Given the description of an element on the screen output the (x, y) to click on. 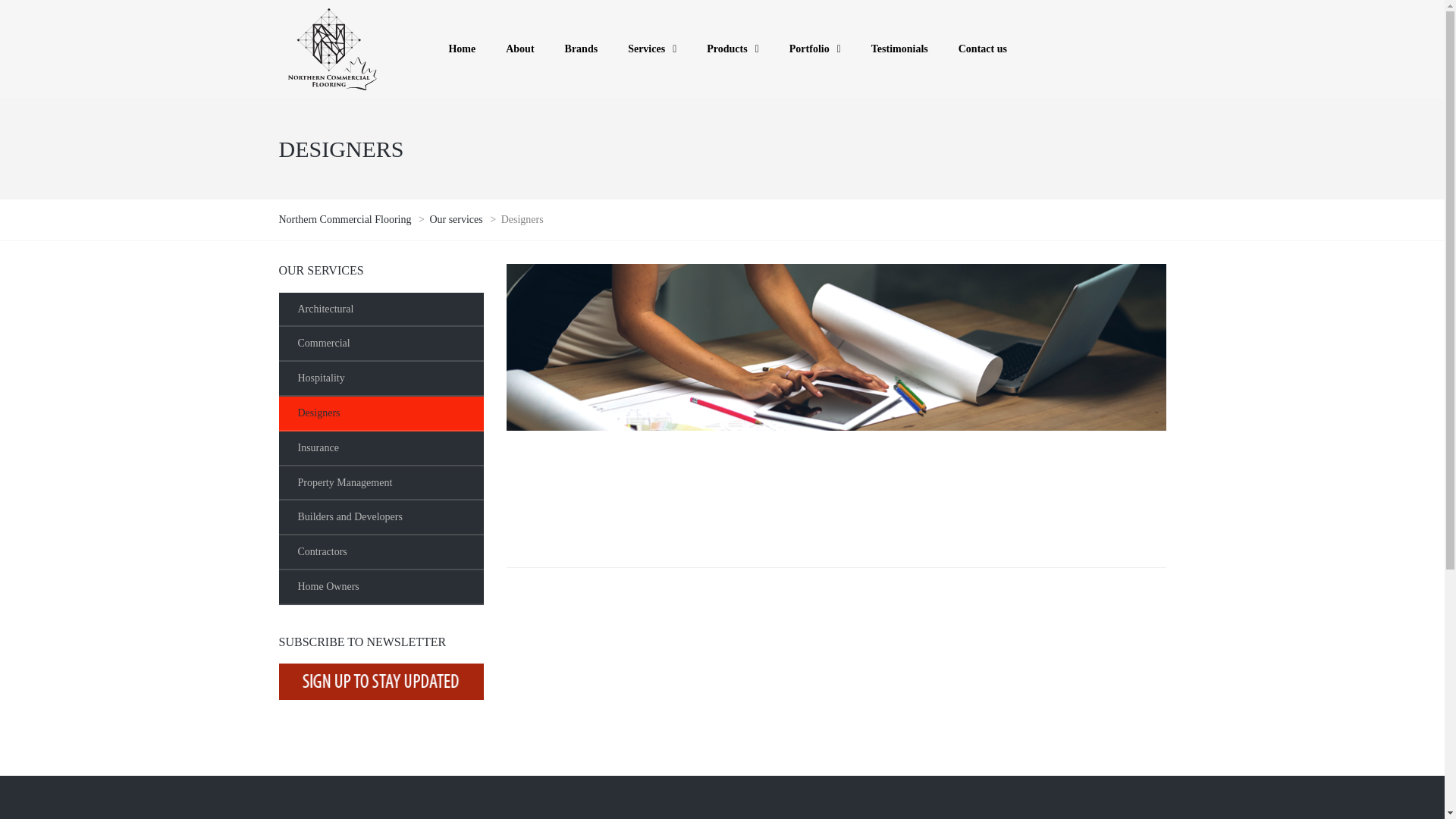
Services (651, 49)
Brands (581, 49)
Go to Northern Commercial Flooring. (346, 219)
Products (732, 49)
About (519, 49)
Northern Commercial Flooring (346, 219)
Architectural (381, 309)
Contractors (381, 552)
Builders and Developers (381, 517)
Commercial (381, 343)
Insurance (381, 448)
Contact us (982, 49)
Go to Our services. (456, 219)
Portfolio (815, 49)
Home Owners (381, 587)
